Given the description of an element on the screen output the (x, y) to click on. 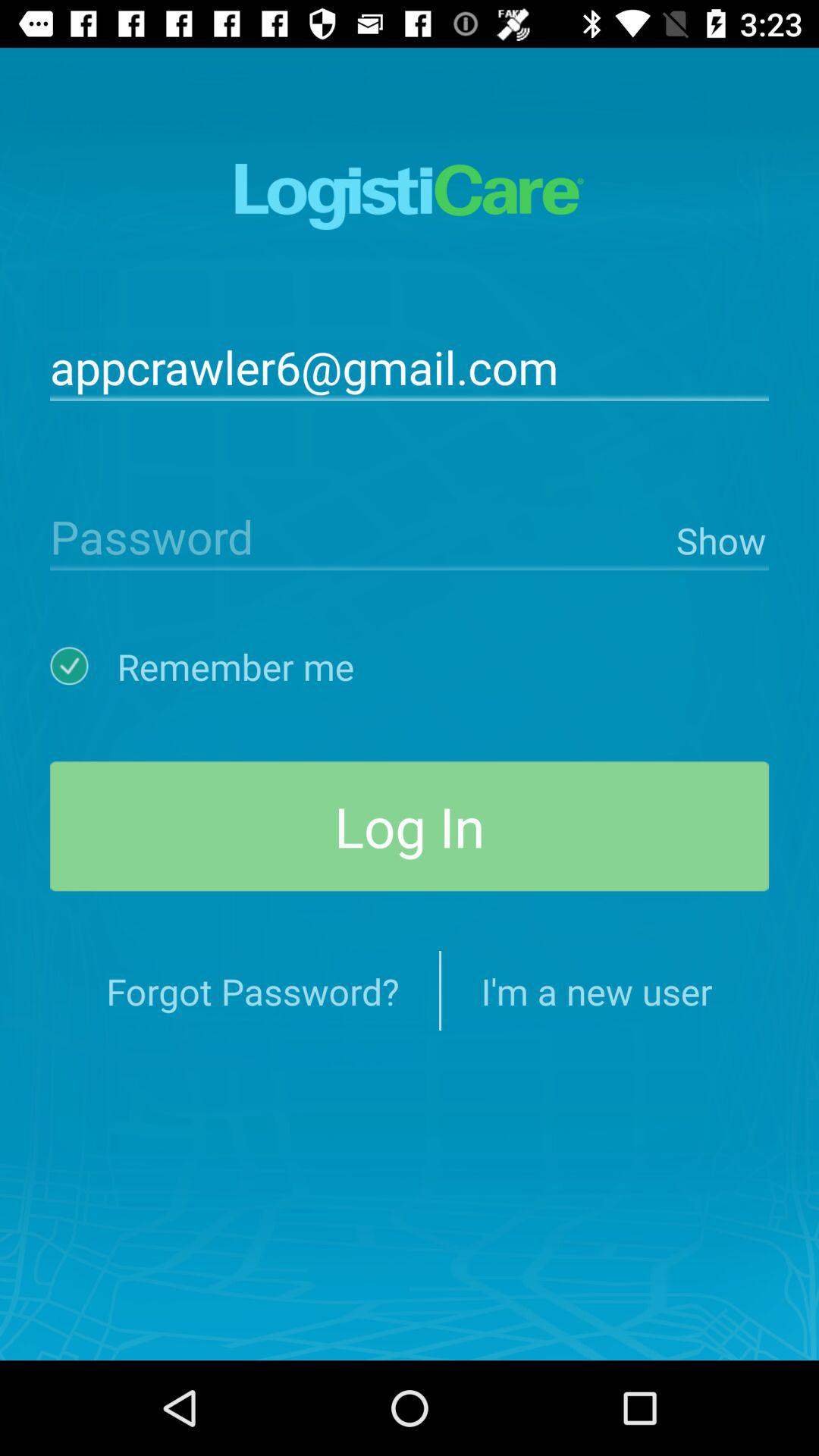
enter password (359, 535)
